Given the description of an element on the screen output the (x, y) to click on. 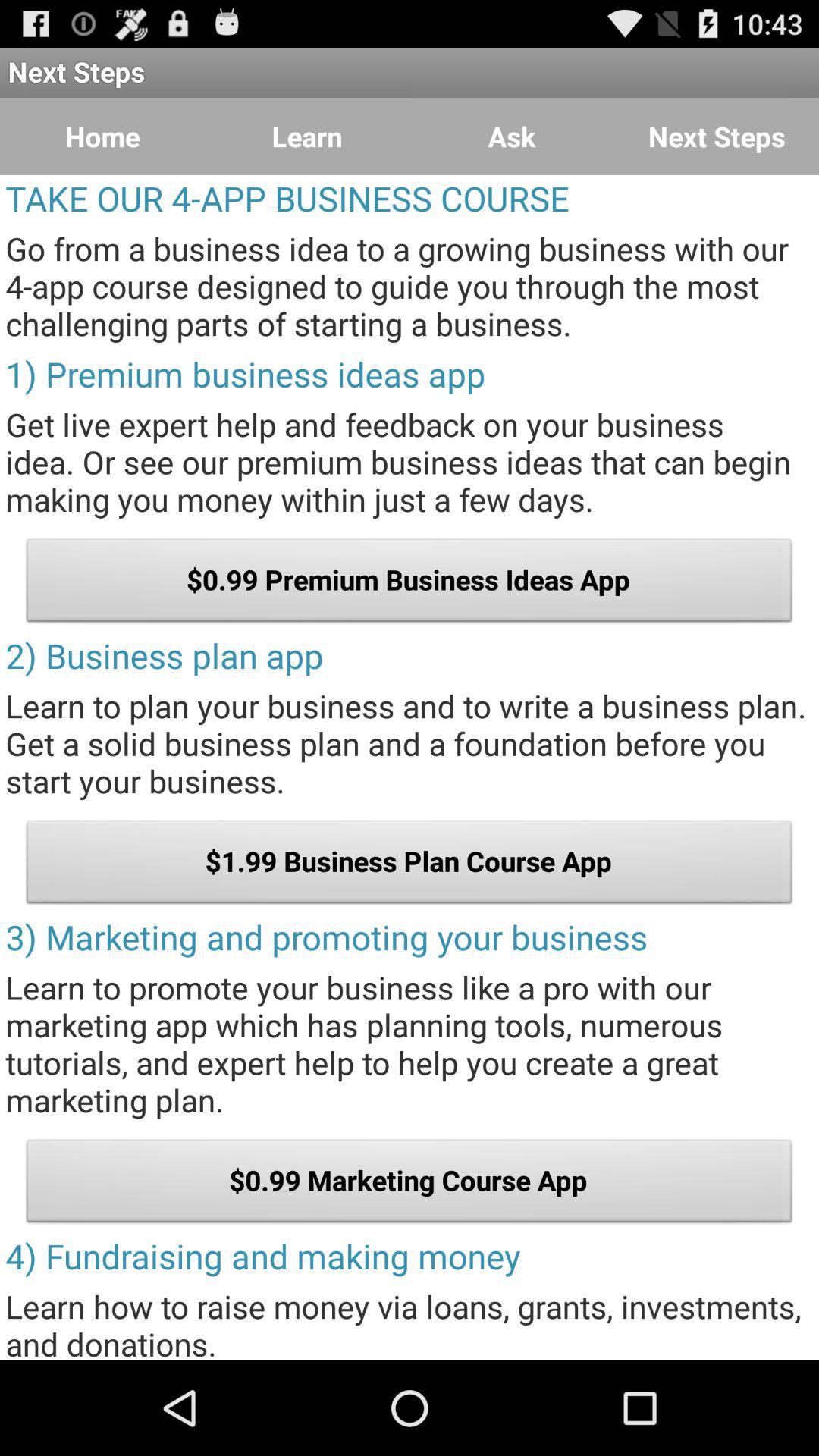
flip until home icon (102, 136)
